Given the description of an element on the screen output the (x, y) to click on. 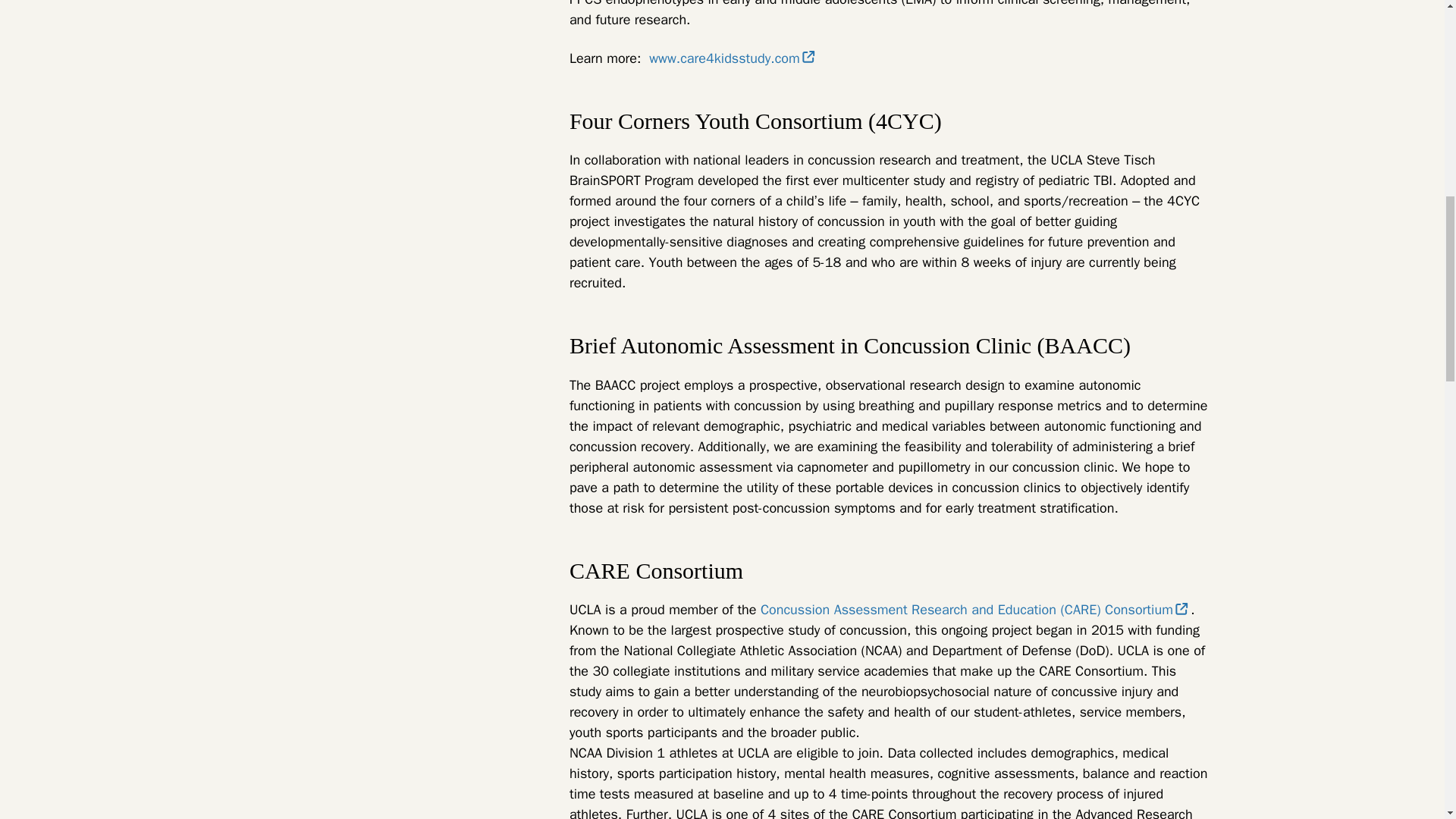
Link is external (1181, 608)
CARE4Kids Study Webpage (730, 57)
Link is external (808, 56)
